Given the description of an element on the screen output the (x, y) to click on. 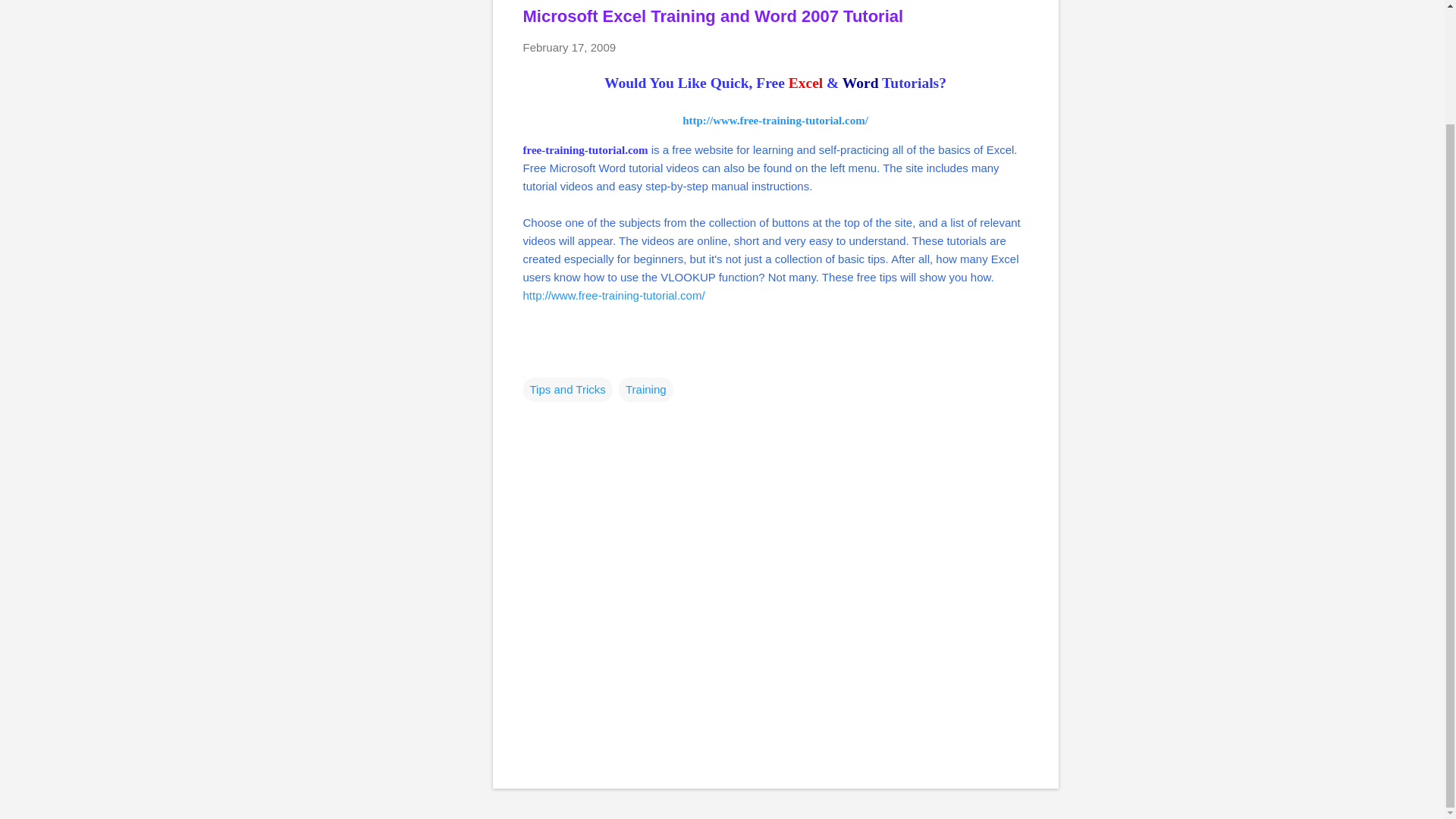
February 17, 2009 (568, 47)
Tips and Tricks (567, 388)
Training (645, 388)
permanent link (568, 47)
Email Post (531, 358)
